Given the description of an element on the screen output the (x, y) to click on. 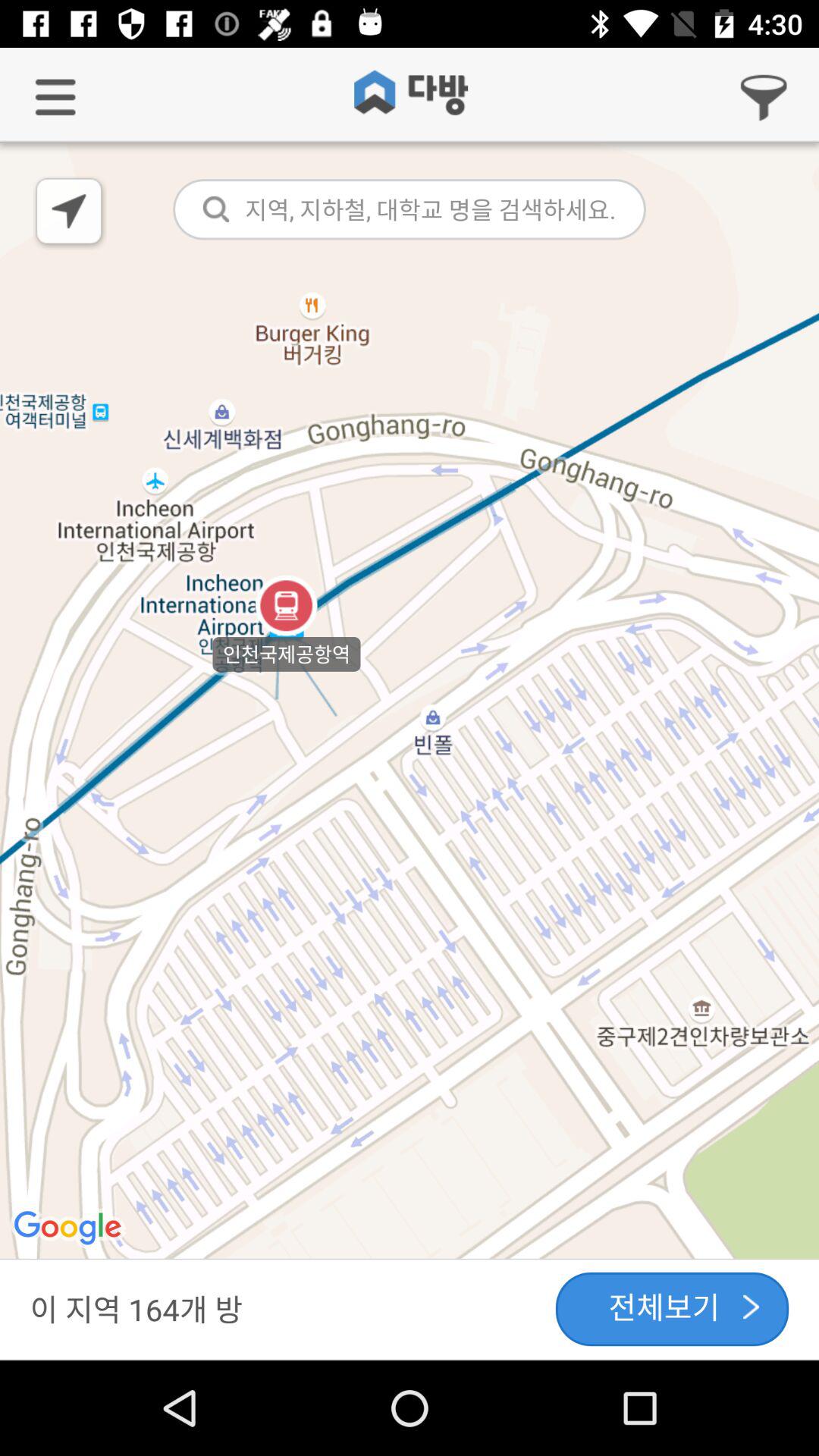
turn on icon at the center (409, 701)
